Given the description of an element on the screen output the (x, y) to click on. 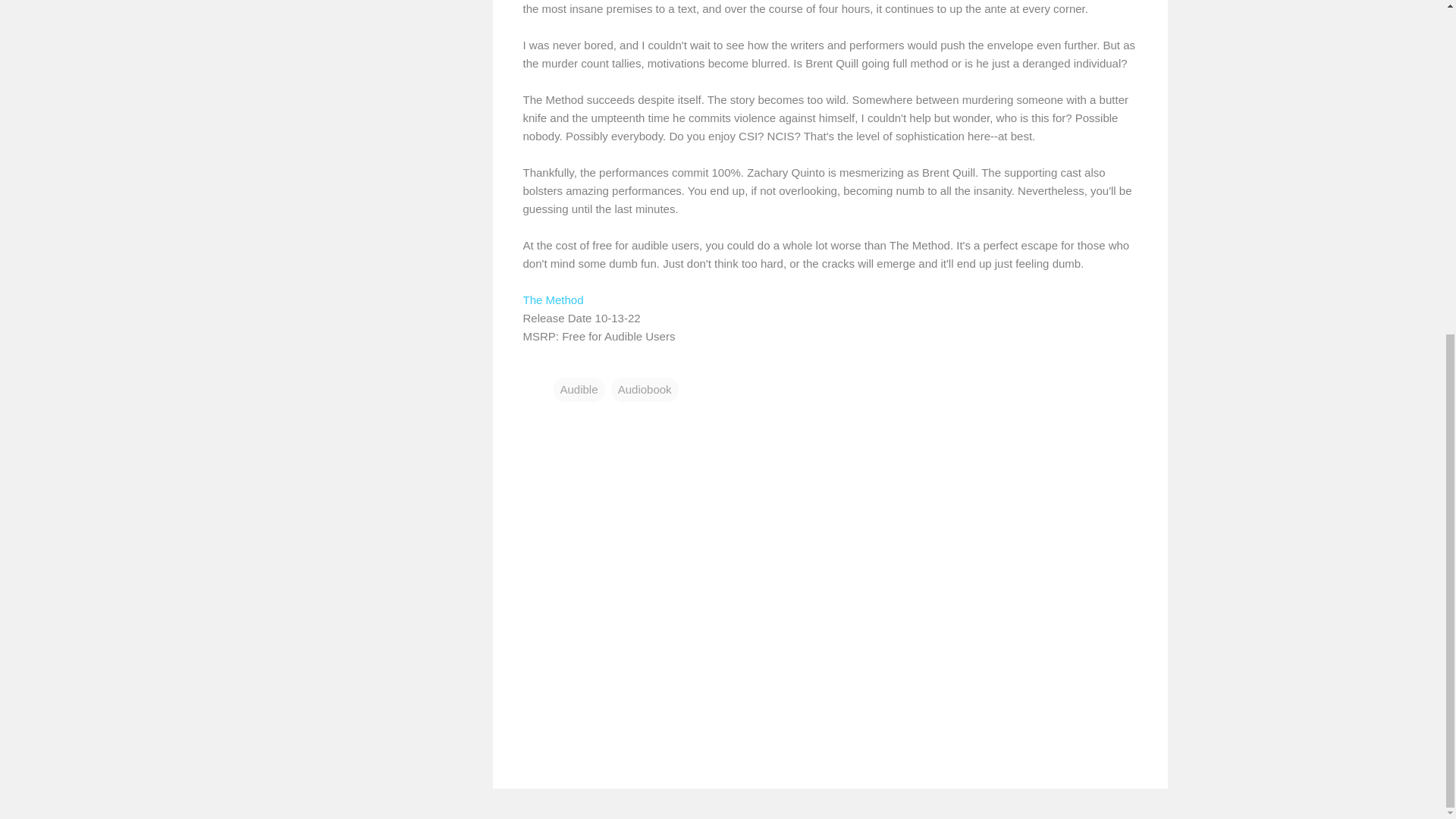
Audible (579, 389)
Audiobook (644, 389)
The Method (552, 298)
